Given the description of an element on the screen output the (x, y) to click on. 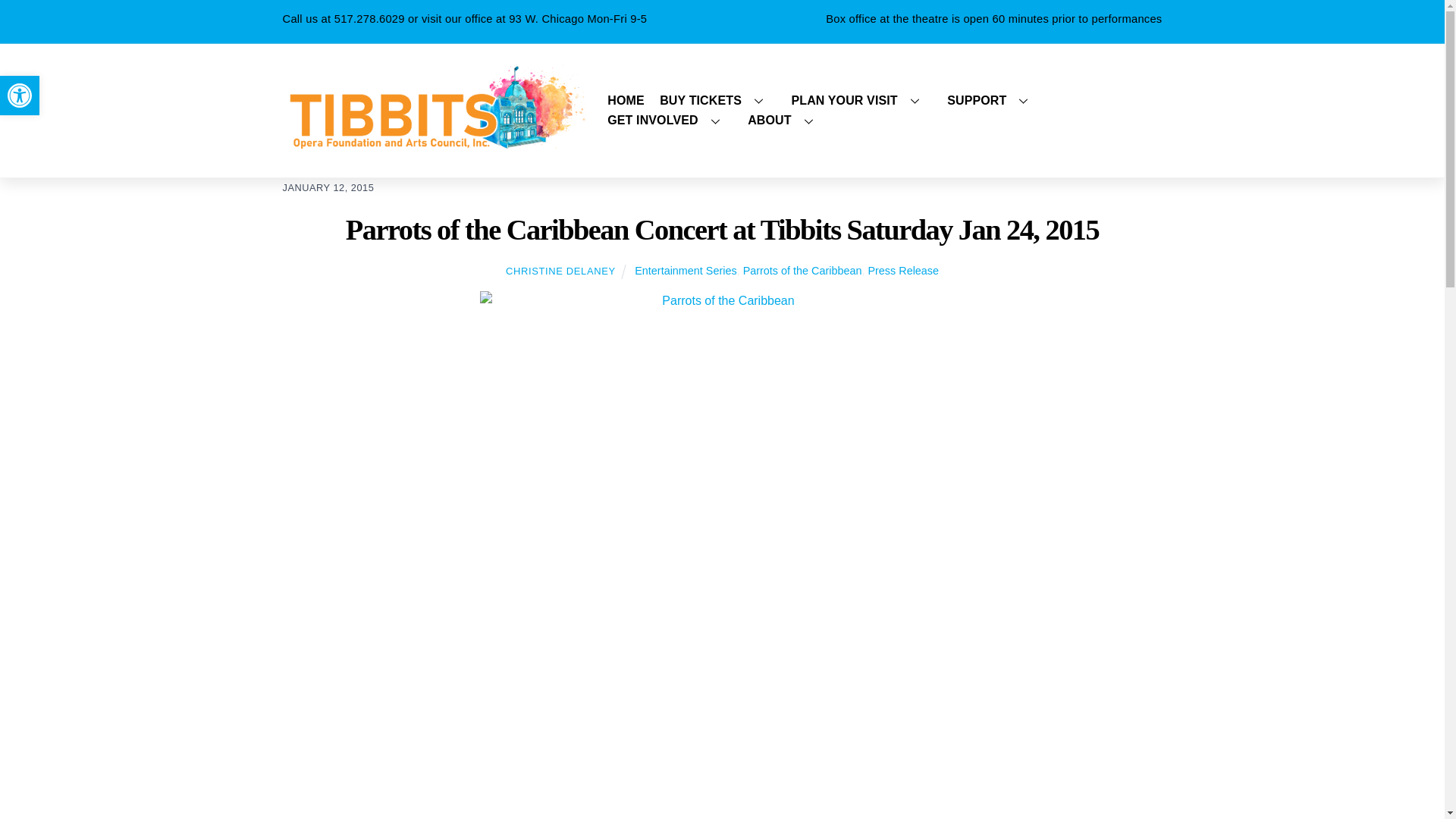
Accessibility Tools (19, 95)
Accessibility Tools (19, 95)
TIBBITS OPERA FOUNDATION AND ARTS COUNCIL, INC. (881, 110)
SUPPORT (19, 95)
PLAN YOUR VISIT (433, 143)
GET INVOLVED (994, 100)
HOME (860, 100)
BUY TICKETS (669, 120)
ABOUT (626, 100)
